Given the description of an element on the screen output the (x, y) to click on. 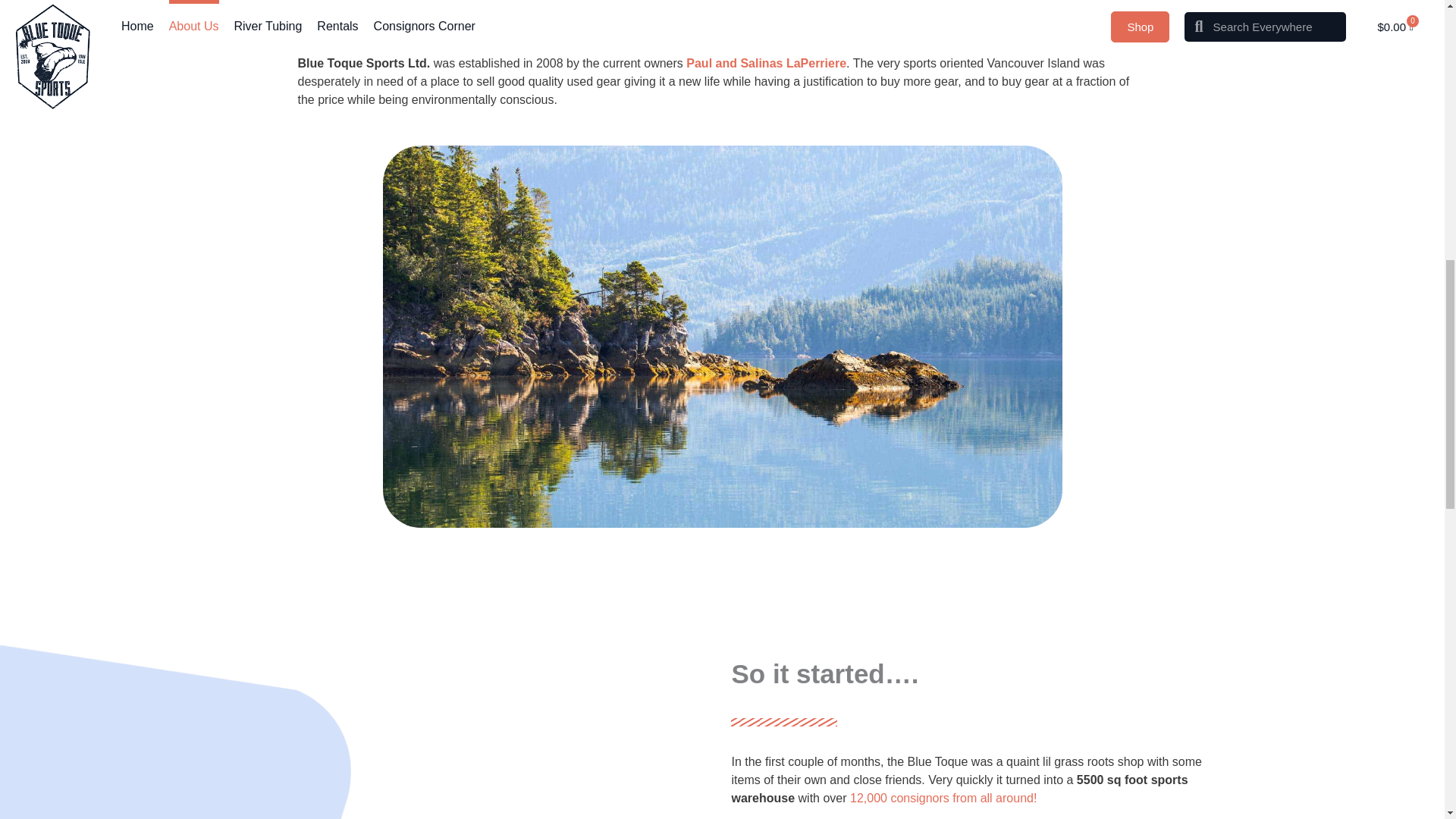
FareHarbor (1342, 64)
